Given the description of an element on the screen output the (x, y) to click on. 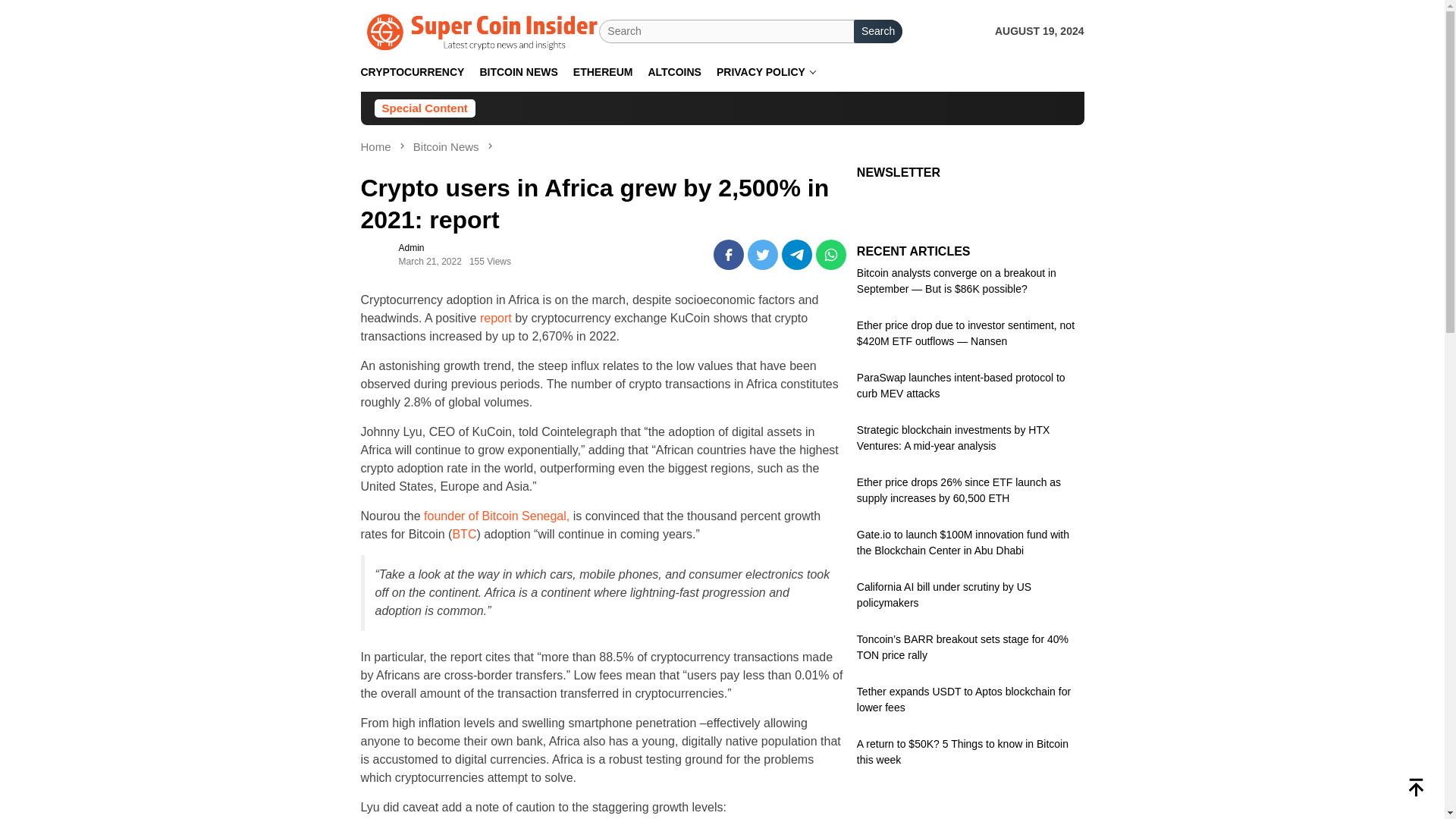
BTC (463, 533)
Super Coin Insider (480, 31)
WhatsApp this (830, 254)
Admin (411, 247)
Super Coin Insider (480, 30)
PRIVACY POLICY (766, 72)
report (496, 318)
Home (377, 146)
CRYPTOCURRENCY (412, 72)
BITCOIN NEWS (517, 72)
